Given the description of an element on the screen output the (x, y) to click on. 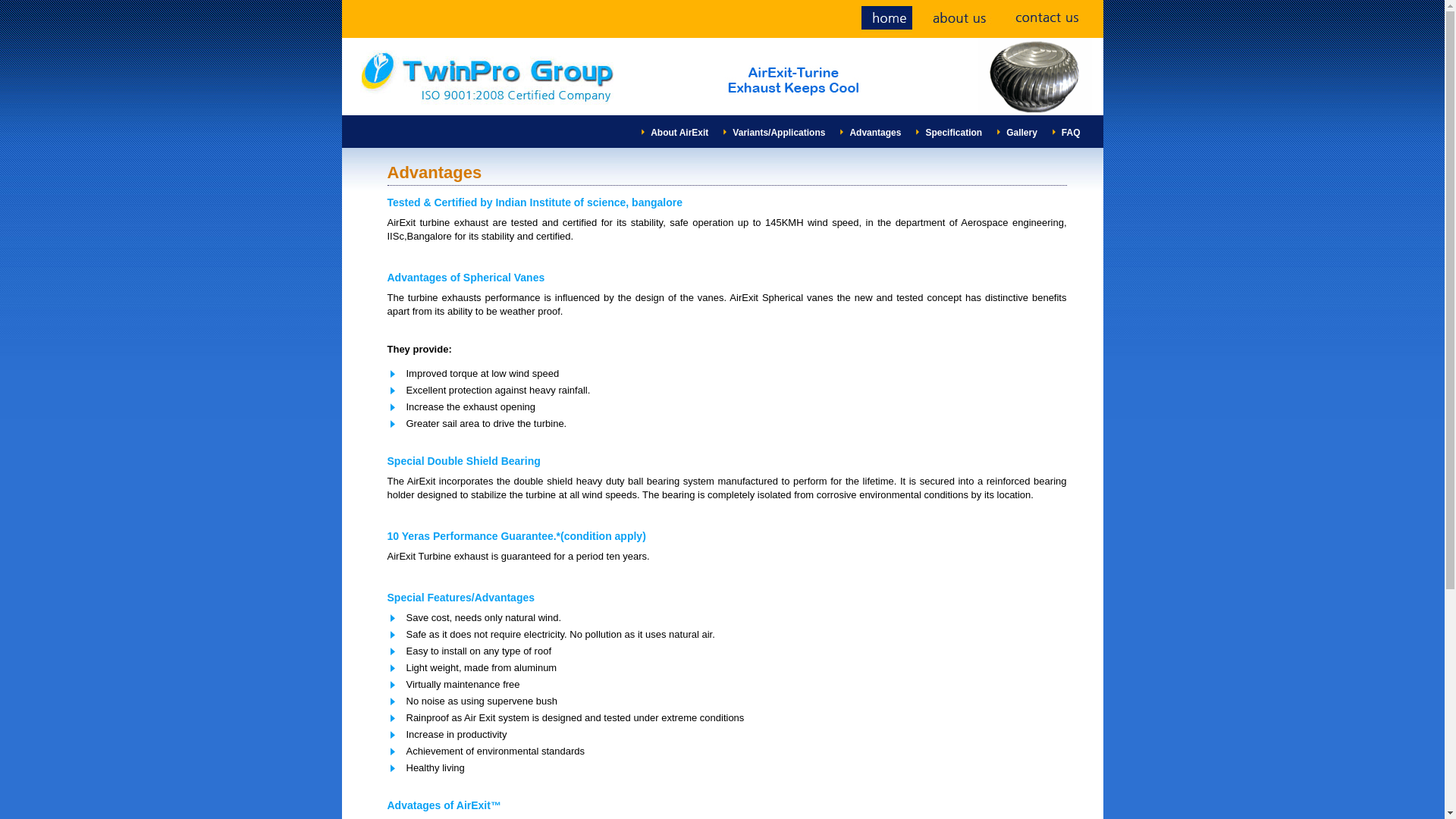
FAQ (1070, 132)
Advantages (874, 132)
Gallery (1021, 132)
Specification (952, 132)
About AirExit (678, 132)
